Given the description of an element on the screen output the (x, y) to click on. 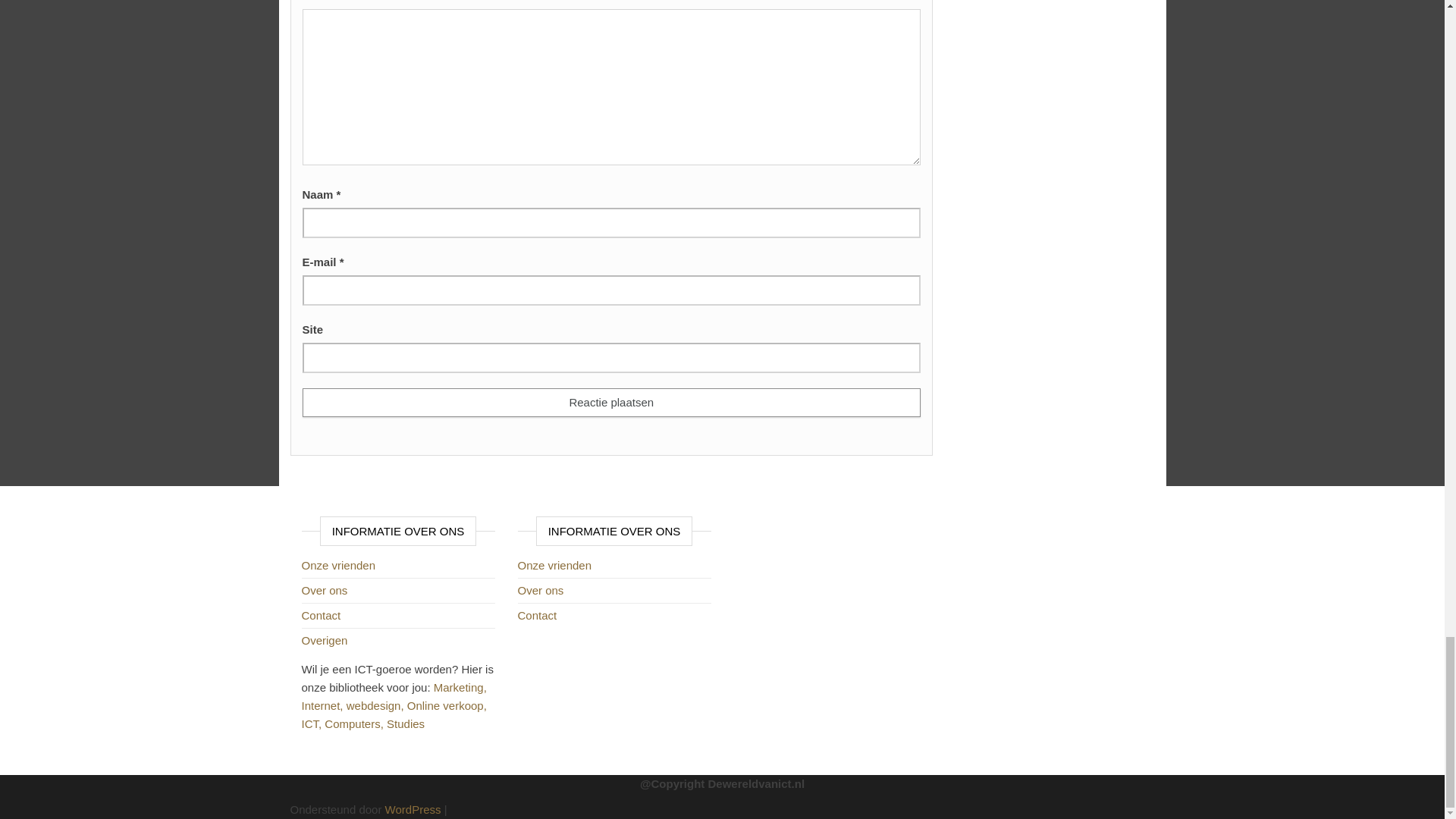
webdesign, (376, 705)
Computers, (355, 723)
Contact (320, 615)
Onze vrienden (338, 564)
ICT, (312, 723)
Reactie plaatsen (610, 402)
Overigen (324, 640)
Over ons (324, 590)
Internet, (323, 705)
Online verkoop, (446, 705)
Reactie plaatsen (610, 402)
Marketing, (459, 686)
